Given the description of an element on the screen output the (x, y) to click on. 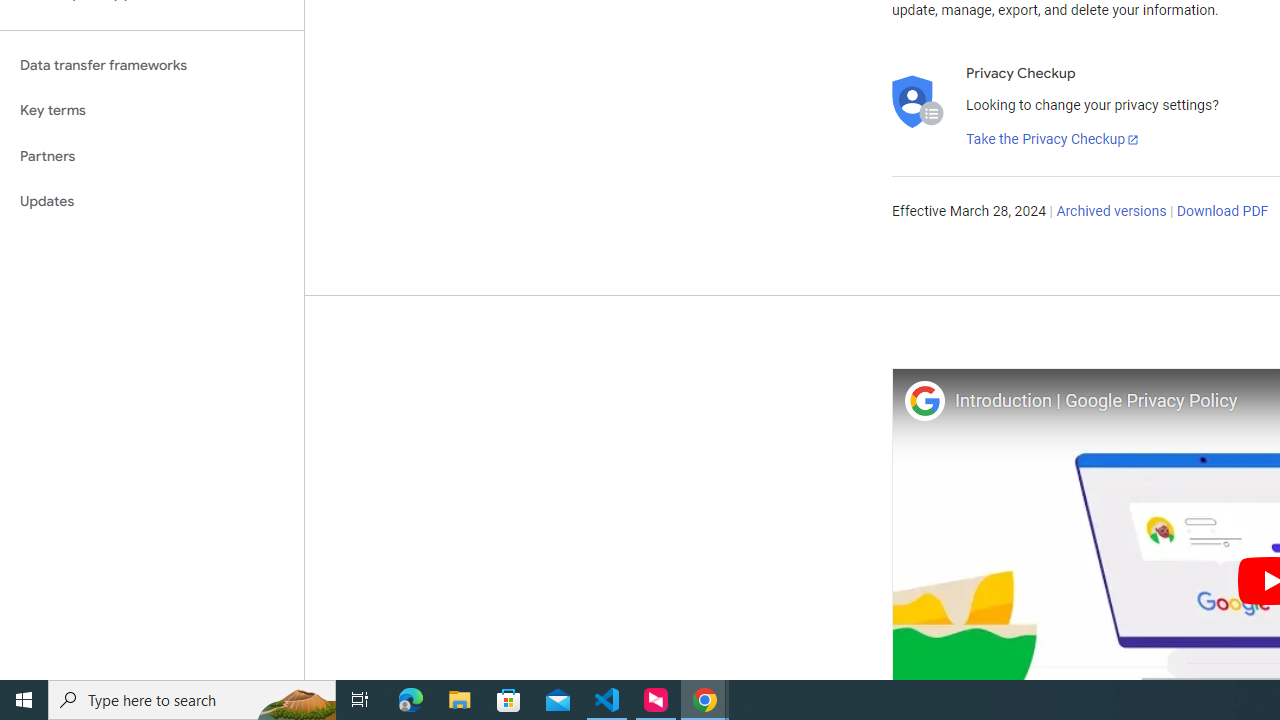
Partners (152, 156)
Data transfer frameworks (152, 65)
Key terms (152, 110)
Photo image of Google (924, 400)
Archived versions (1111, 212)
Take the Privacy Checkup (1053, 140)
Download PDF (1222, 212)
